Given the description of an element on the screen output the (x, y) to click on. 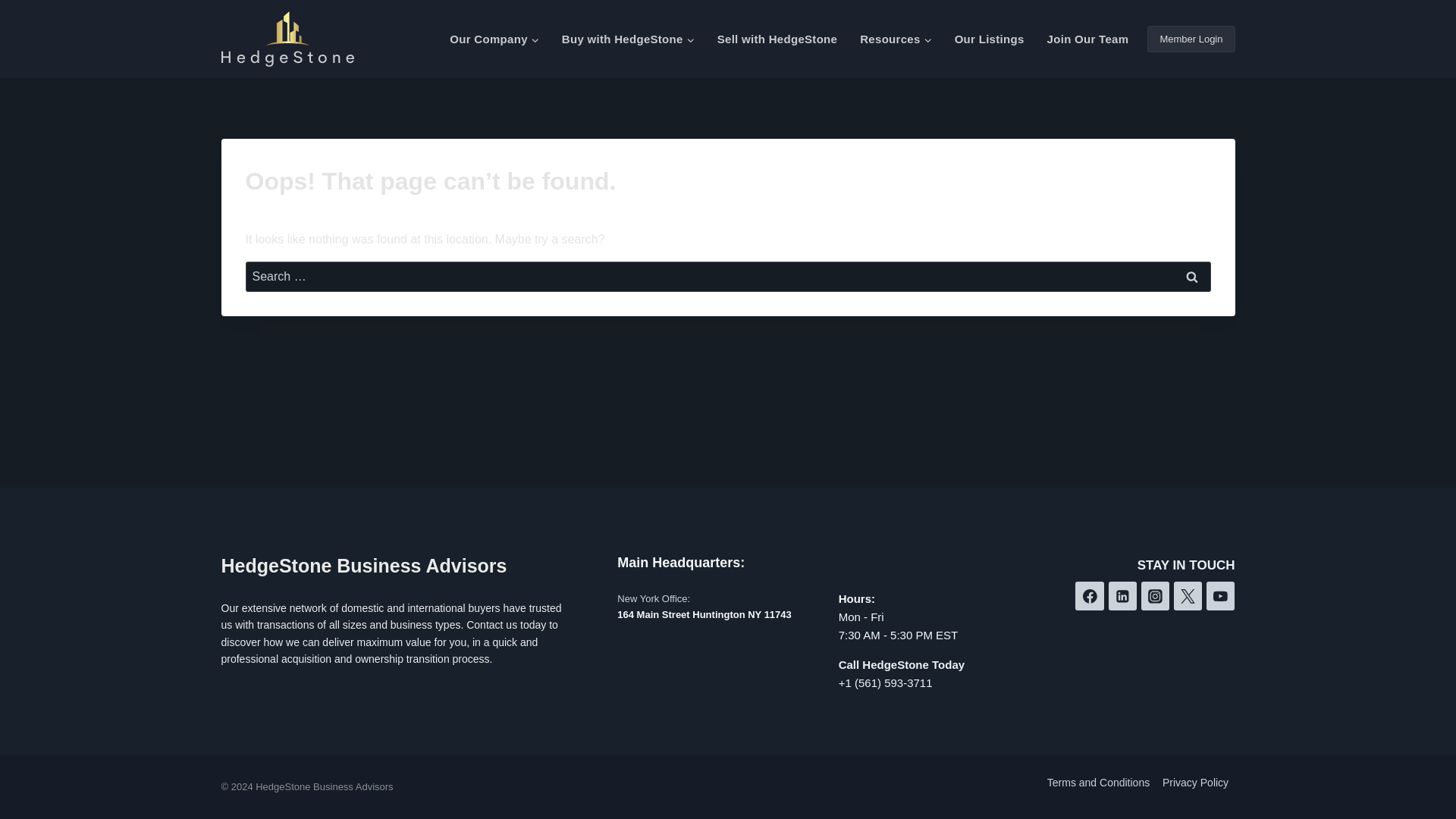
Search (1190, 276)
Search (1190, 276)
Terms and Conditions (1098, 781)
Resources (895, 38)
Privacy Policy (1195, 781)
Join Our Team (1087, 38)
Our Listings (989, 38)
Search (1190, 276)
Our Company (494, 38)
Buy with HedgeStone (628, 38)
